Given the description of an element on the screen output the (x, y) to click on. 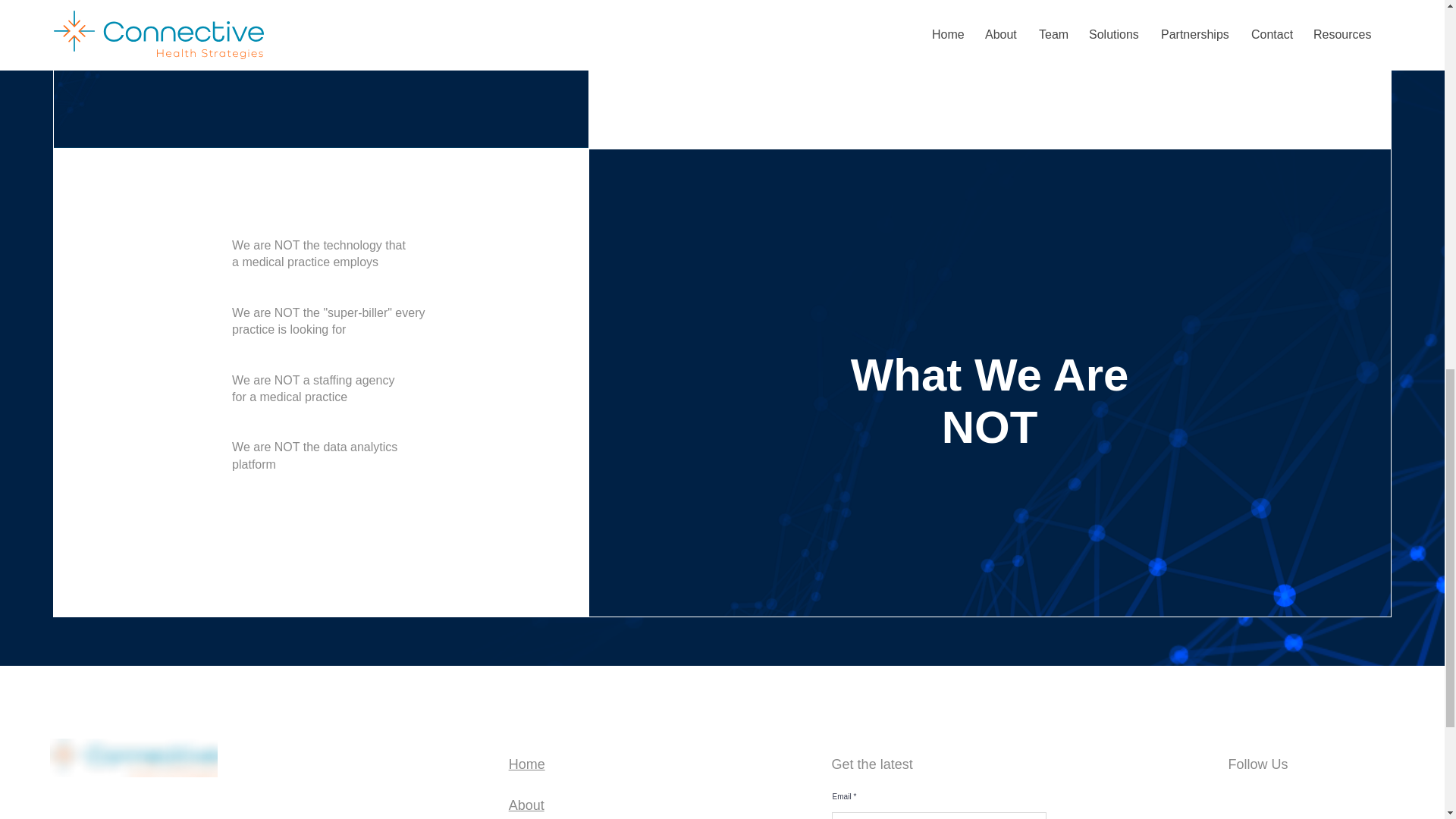
Home (526, 764)
About (526, 805)
